Given the description of an element on the screen output the (x, y) to click on. 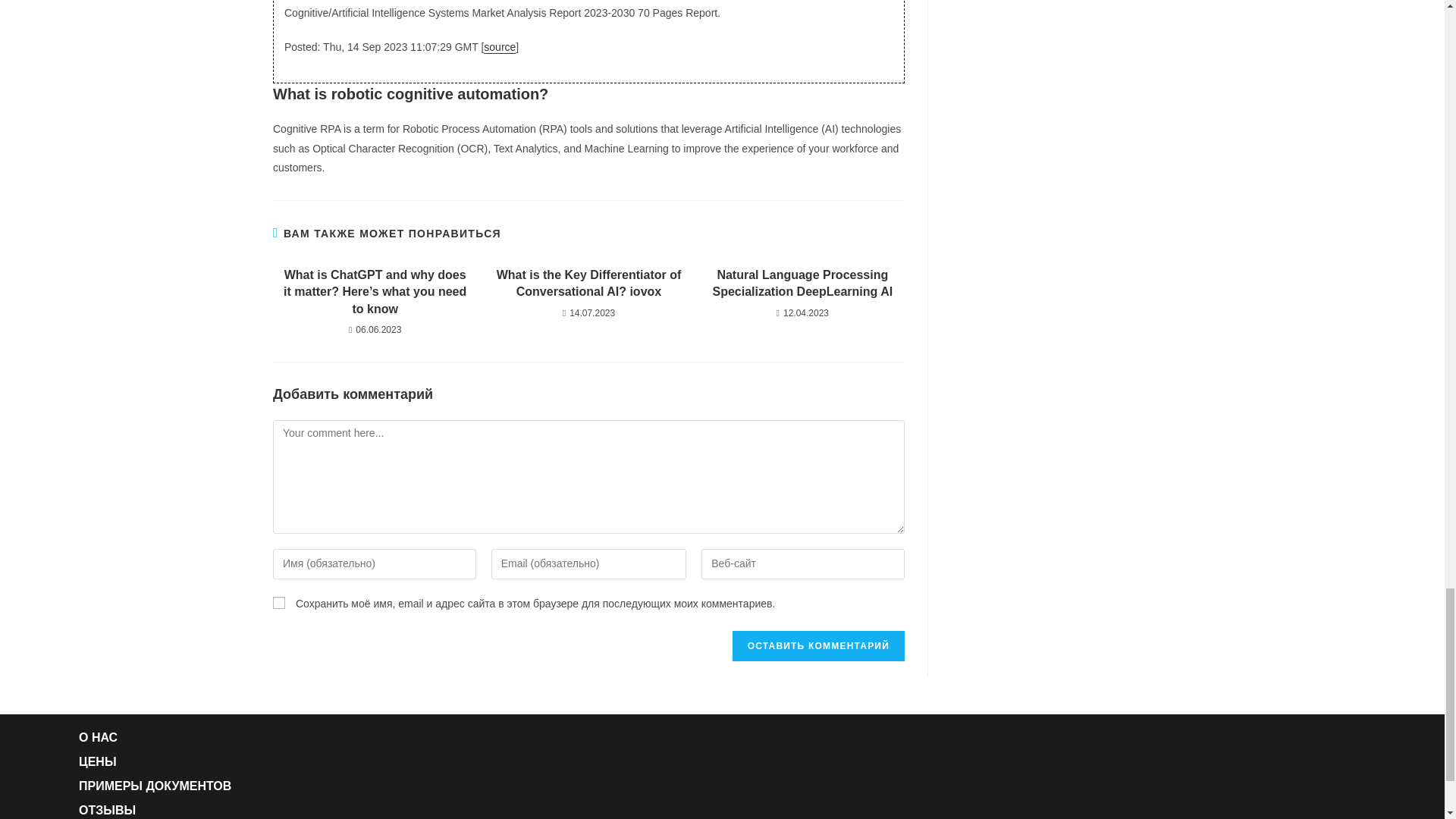
Natural Language Processing Specialization DeepLearning AI (802, 283)
source (499, 46)
What is the Key Differentiator of Conversational AI? iovox (588, 283)
yes (279, 603)
